Given the description of an element on the screen output the (x, y) to click on. 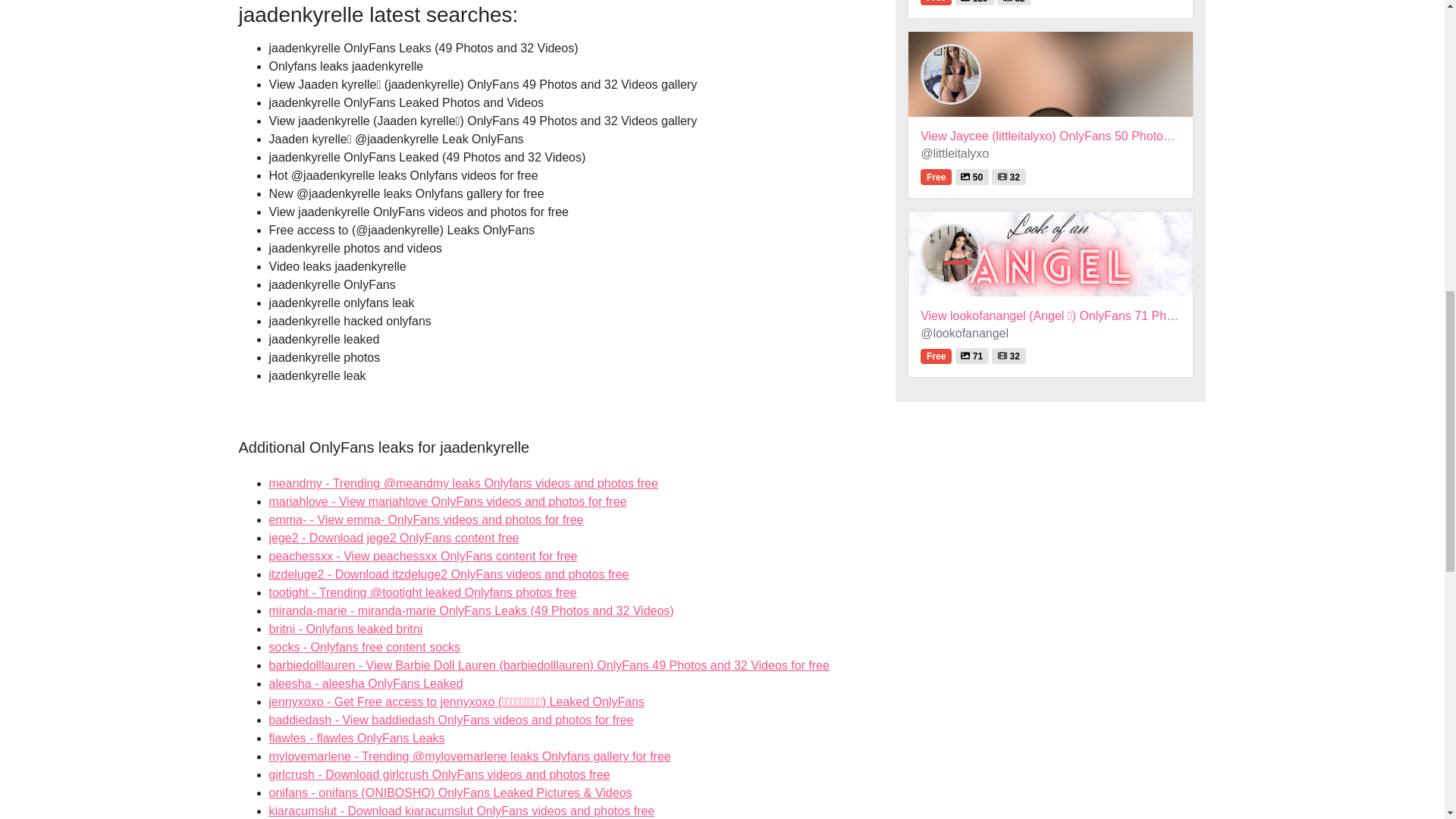
peachessxx - View peachessxx OnlyFans content for free (421, 555)
britni - Onlyfans leaked britni (365, 683)
aleesha - aleesha OnlyFans Leaked (438, 774)
emma- - View emma- OnlyFans videos and photos for free (344, 628)
socks - Onlyfans free content socks (365, 683)
